Given the description of an element on the screen output the (x, y) to click on. 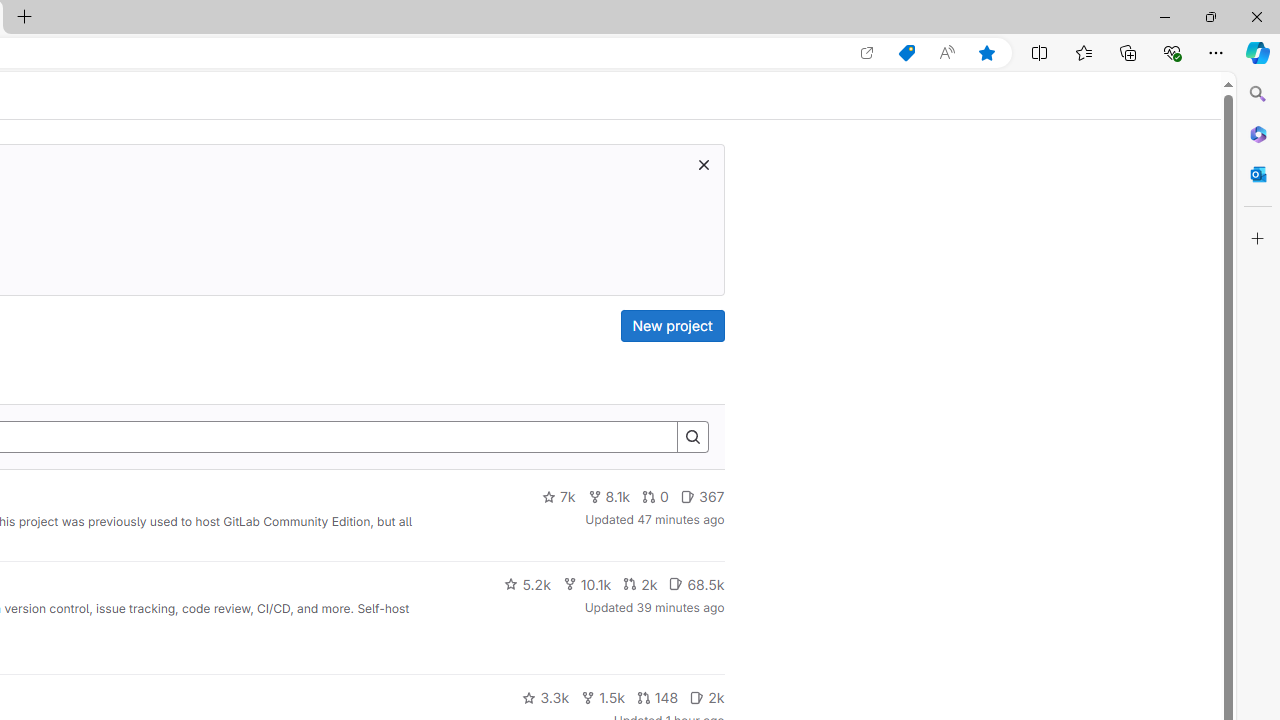
Class: s16 gl-icon gl-button-icon  (703, 164)
367 (701, 497)
5.2k (527, 583)
148 (657, 697)
1.5k (602, 697)
3.3k (545, 697)
10.1k (586, 583)
Class: s14 gl-mr-2 (697, 696)
2k (706, 697)
